Given the description of an element on the screen output the (x, y) to click on. 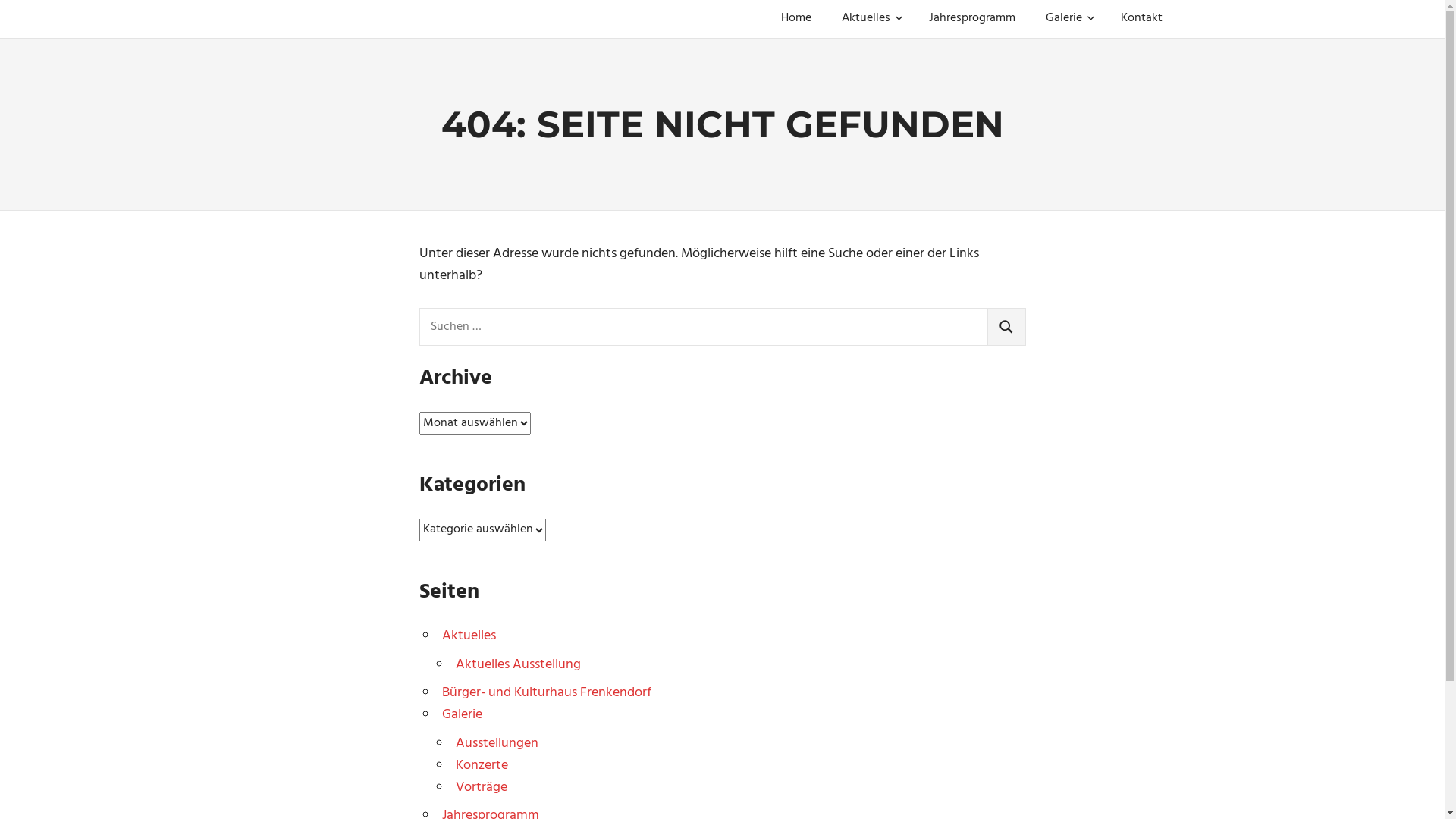
Aktuelles Ausstellung Element type: text (517, 664)
Kontakt Element type: text (1141, 18)
Suchen nach: Element type: hover (702, 326)
Ausstellungen Element type: text (496, 743)
Galerie Element type: text (462, 714)
Aktuelles Element type: text (869, 18)
Home Element type: text (795, 18)
Jahresprogramm Element type: text (971, 18)
Konzerte Element type: text (481, 765)
Aktuelles Element type: text (468, 635)
Galerie Element type: text (1066, 18)
